Given the description of an element on the screen output the (x, y) to click on. 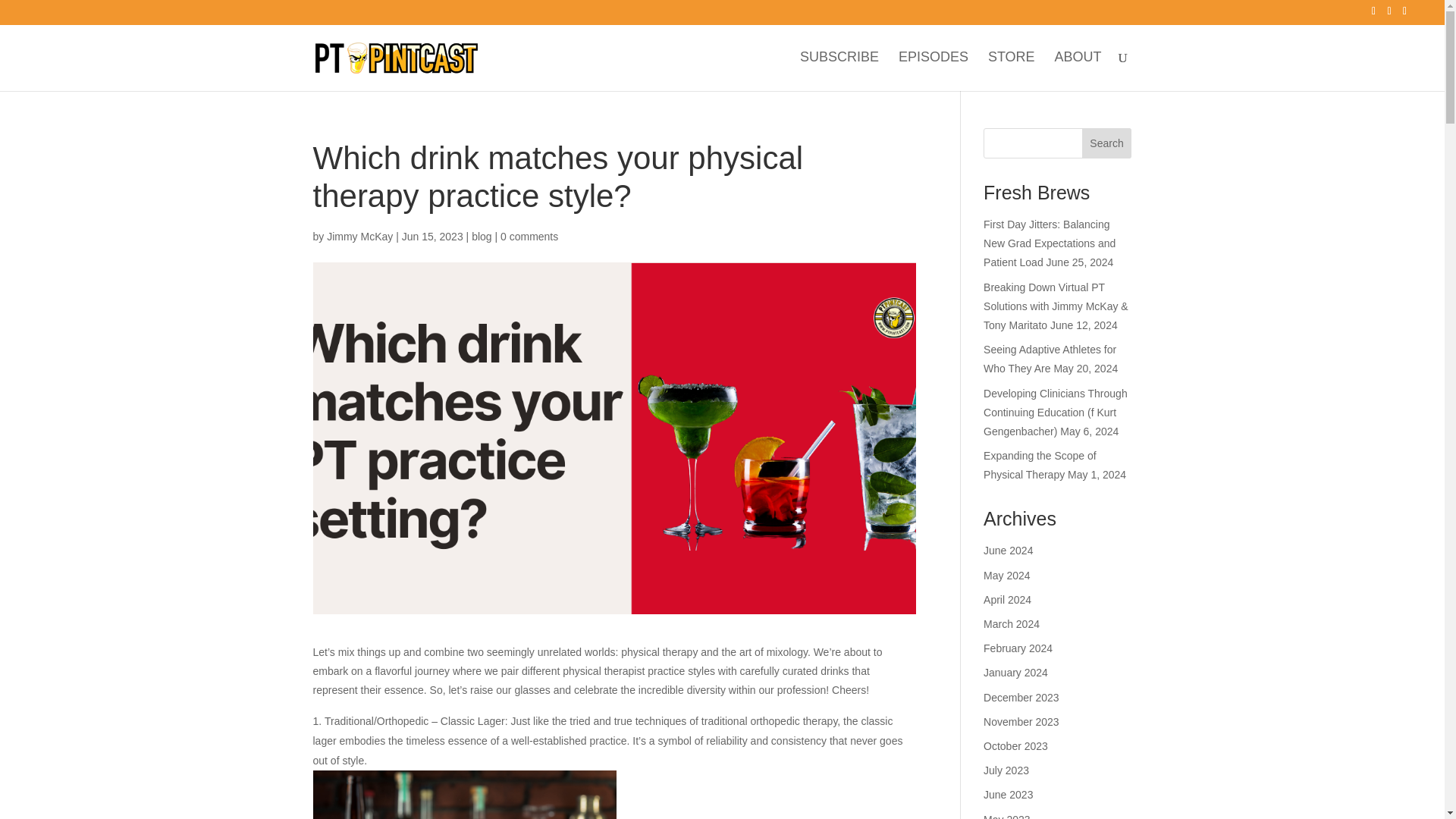
June 2024 (1008, 550)
Posts by Jimmy McKay (359, 236)
Jimmy McKay (359, 236)
February 2024 (1018, 648)
blog (481, 236)
Expanding the Scope of Physical Therapy (1040, 464)
0 comments (528, 236)
March 2024 (1011, 623)
December 2023 (1021, 697)
